Given the description of an element on the screen output the (x, y) to click on. 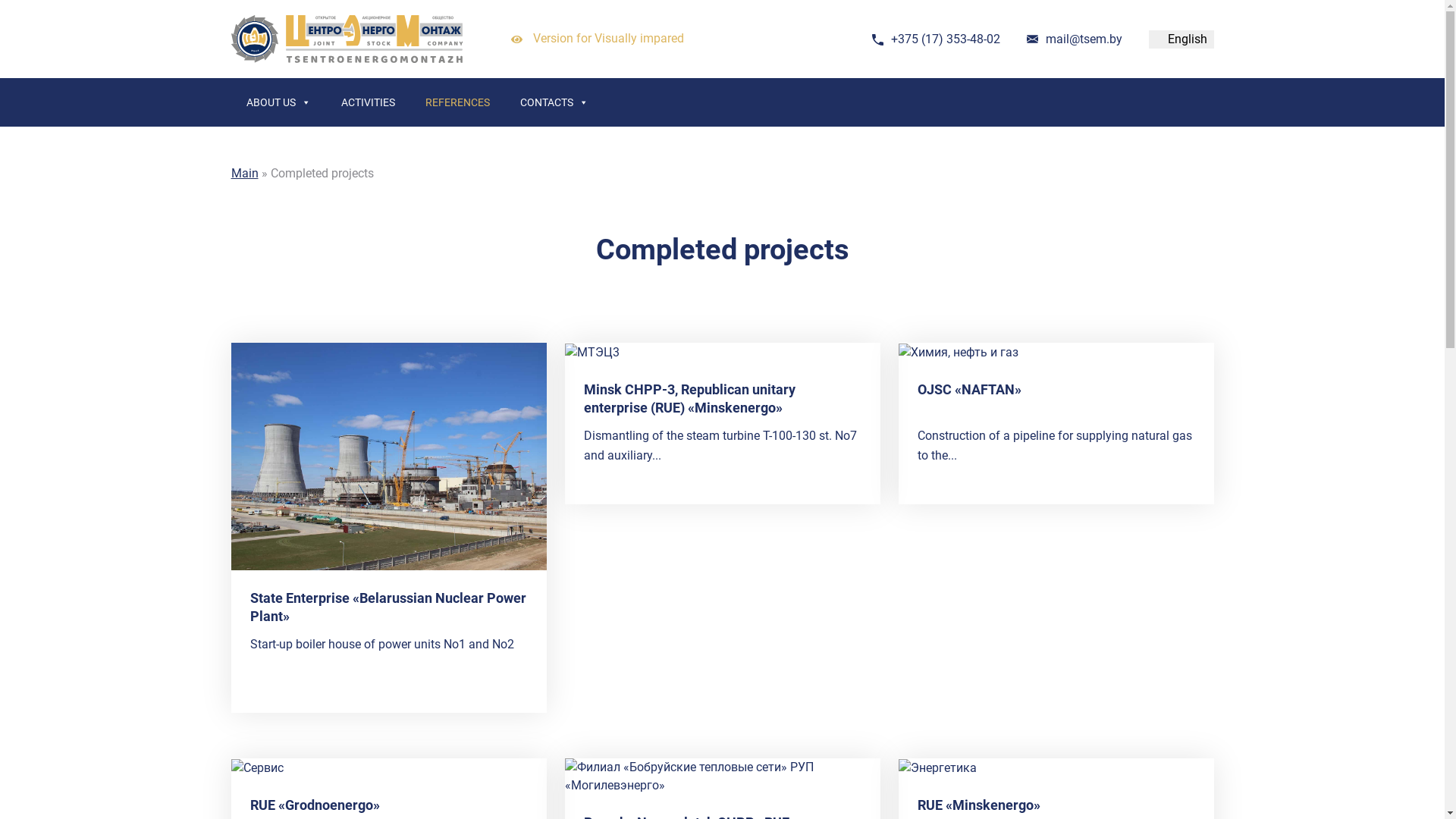
+375 (17) 353-48-02 Element type: text (944, 39)
ACTIVITIES Element type: text (368, 101)
Version for Visually impared Element type: text (597, 38)
REFERENCES Element type: text (456, 101)
Main Element type: text (243, 173)
mail@tsem.by Element type: text (1082, 39)
ABOUT US Element type: text (277, 101)
CONTACTS Element type: text (554, 101)
